Given the description of an element on the screen output the (x, y) to click on. 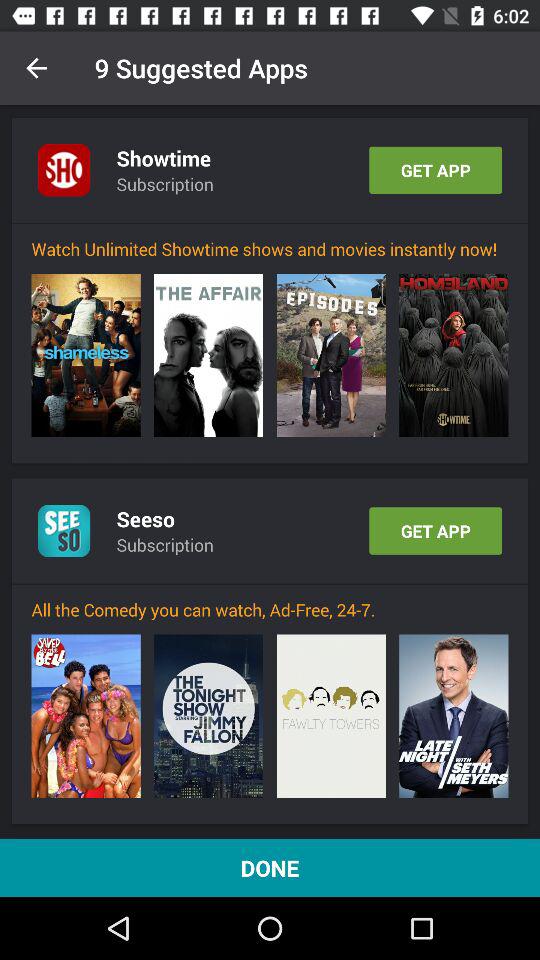
press the icon above get app (453, 355)
